Given the description of an element on the screen output the (x, y) to click on. 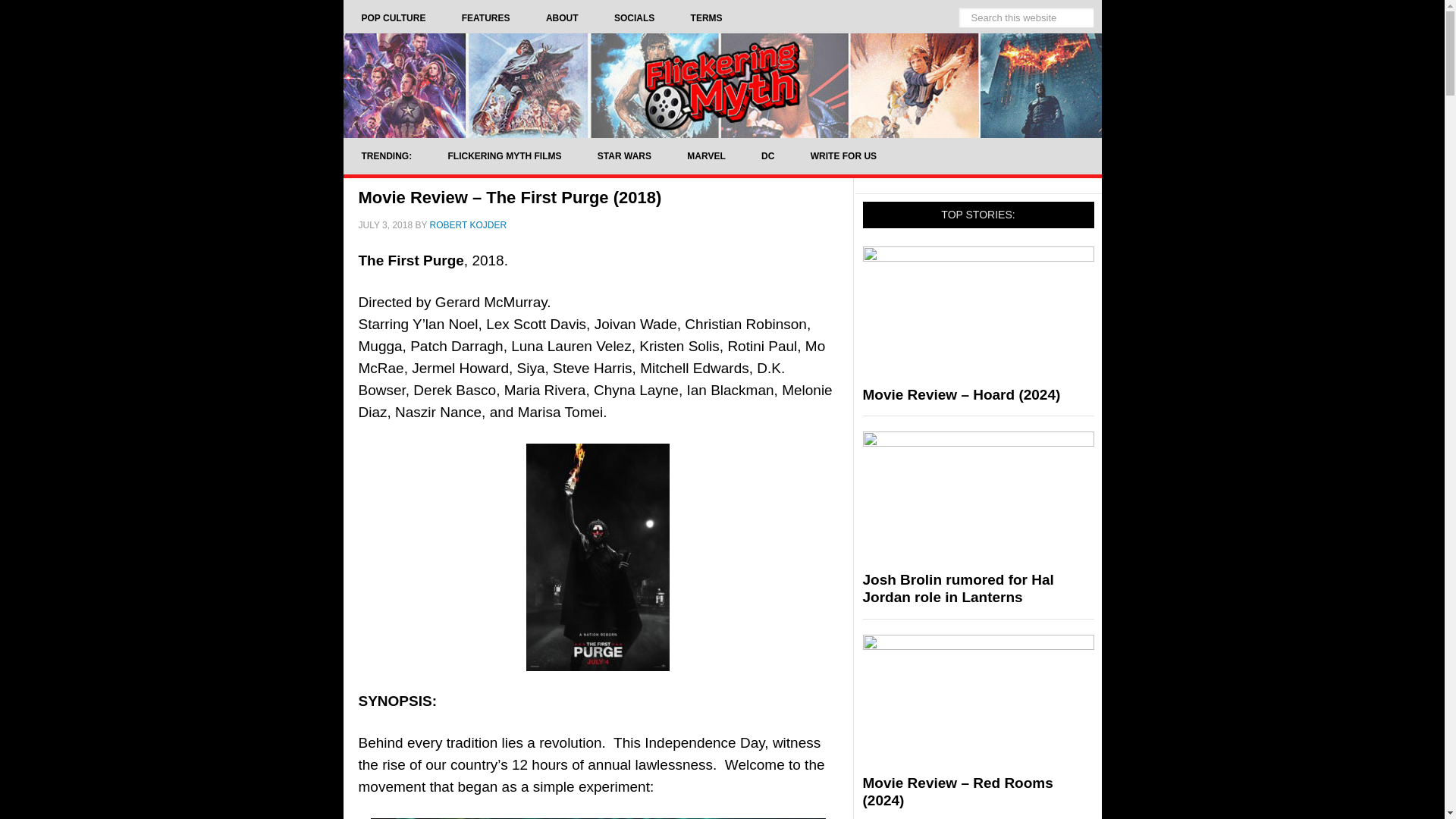
ROBERT KOJDER (467, 225)
MARVEL (705, 156)
STAR WARS (624, 156)
FEATURES (486, 18)
FLICKERING MYTH (721, 85)
TERMS (706, 18)
SOCIALS (633, 18)
About Flickering Myth (561, 18)
ABOUT (561, 18)
